Given the description of an element on the screen output the (x, y) to click on. 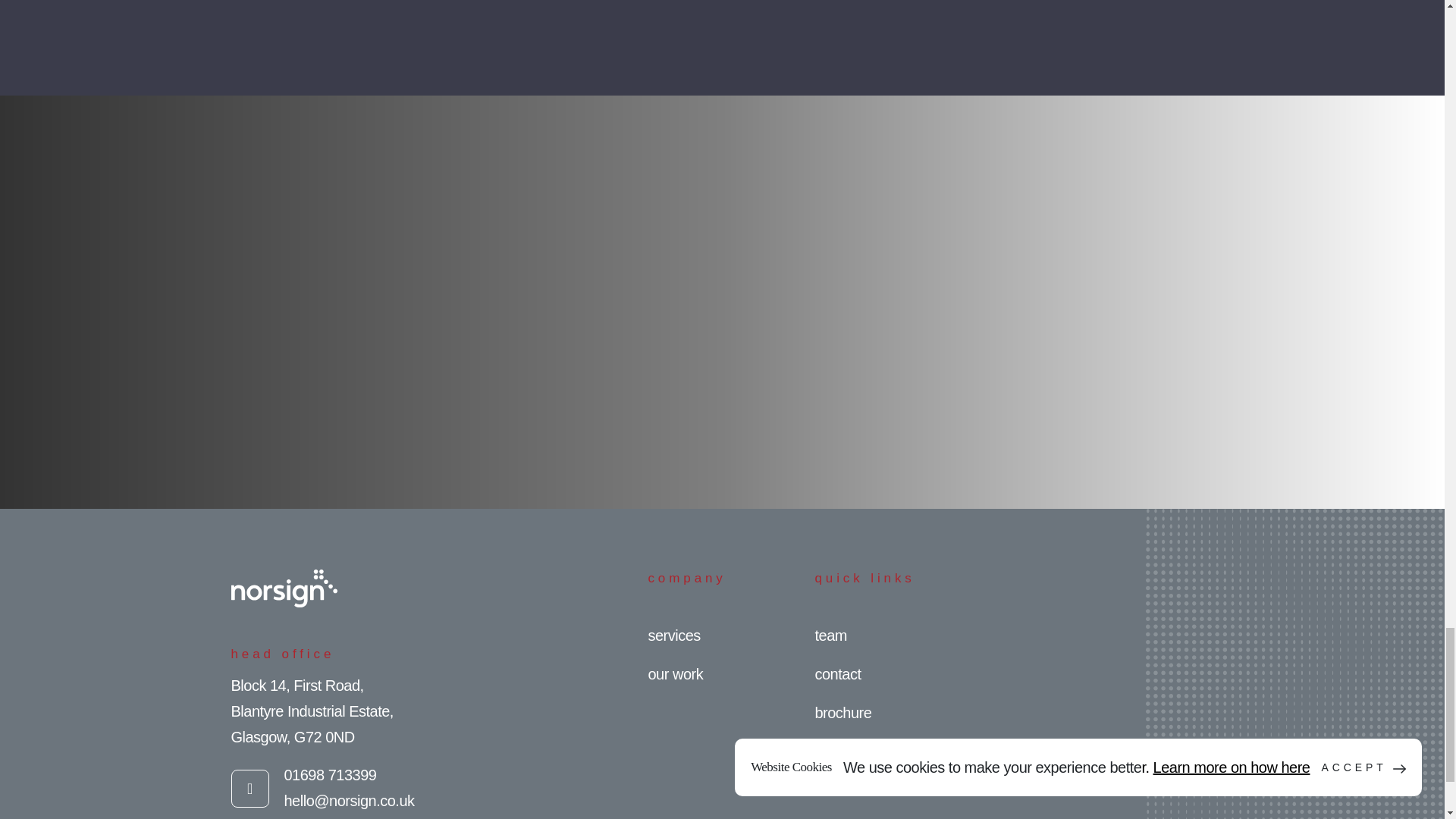
team (829, 635)
our work (675, 673)
brochure (841, 712)
contact (836, 673)
Opens in a new window (248, 788)
services (673, 635)
